Given the description of an element on the screen output the (x, y) to click on. 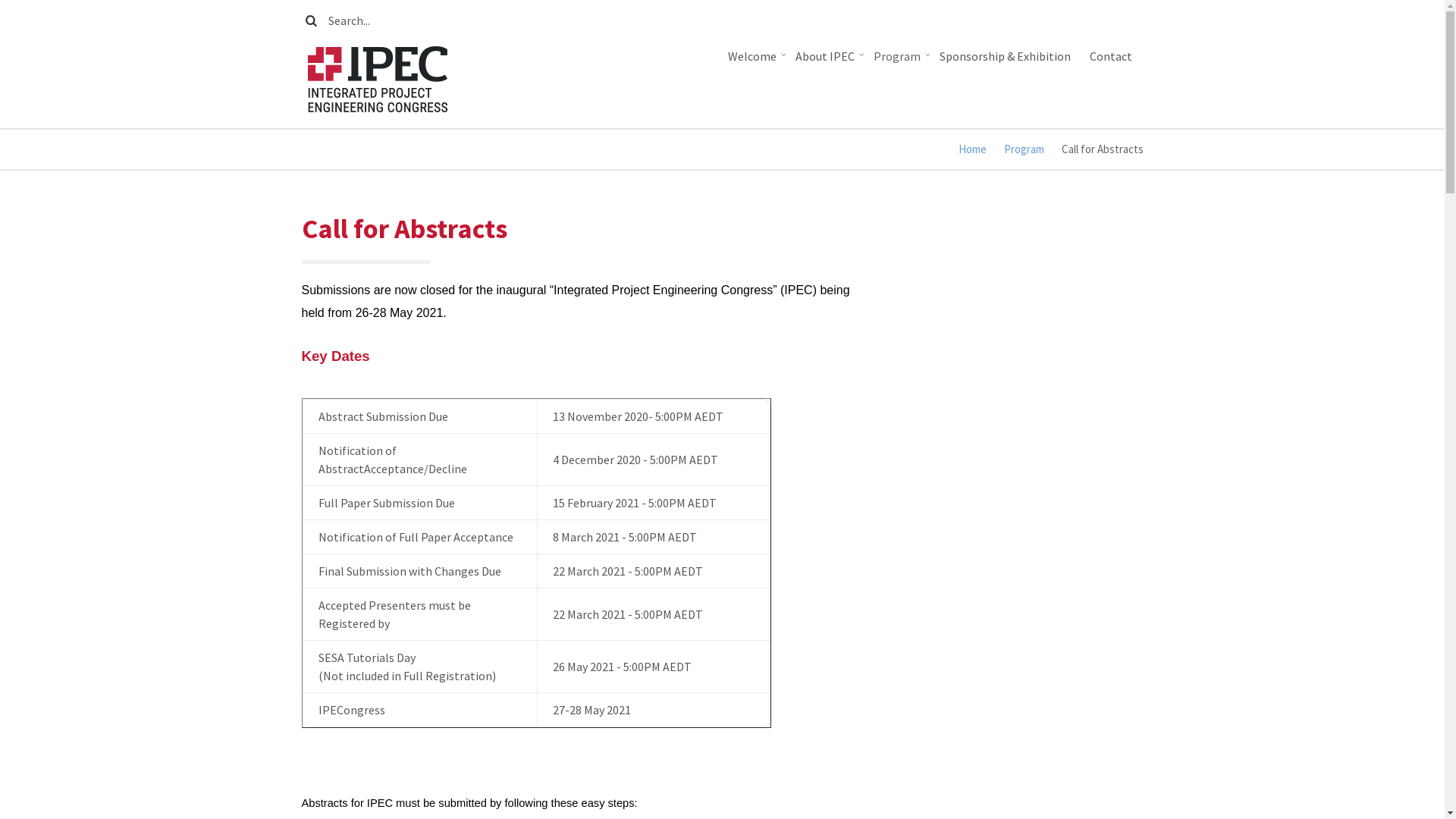
Home Element type: text (972, 148)
Home Element type: hover (377, 76)
Search Element type: text (316, 20)
Skip to main content Element type: text (0, 0)
Sponsorship & Exhibition Element type: text (1006, 55)
Enter the terms you wish to search for. Element type: hover (734, 20)
Contact Element type: text (1111, 55)
Program Element type: text (1024, 148)
